Given the description of an element on the screen output the (x, y) to click on. 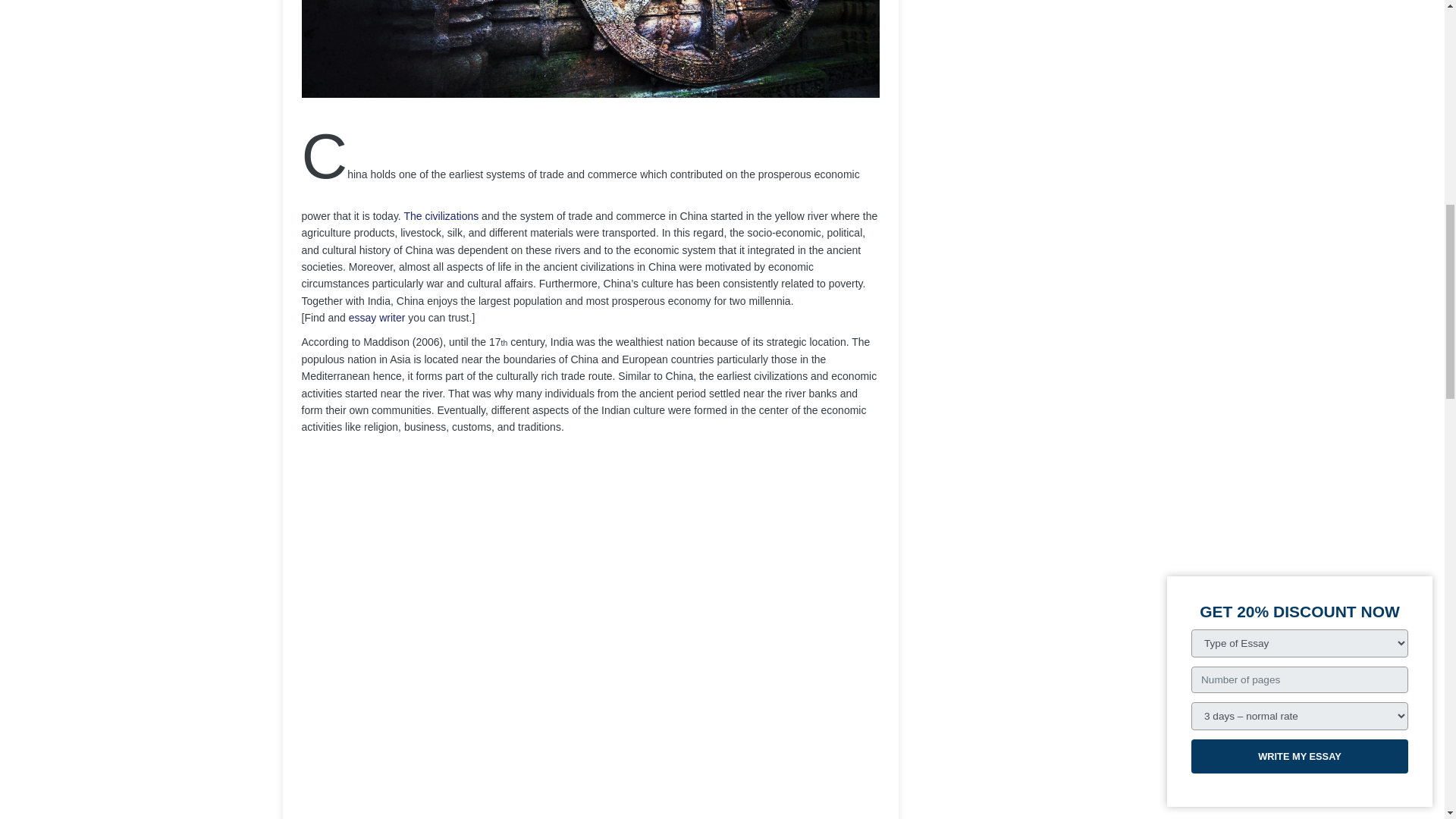
The civilizations (441, 215)
essay writer (377, 317)
